Given the description of an element on the screen output the (x, y) to click on. 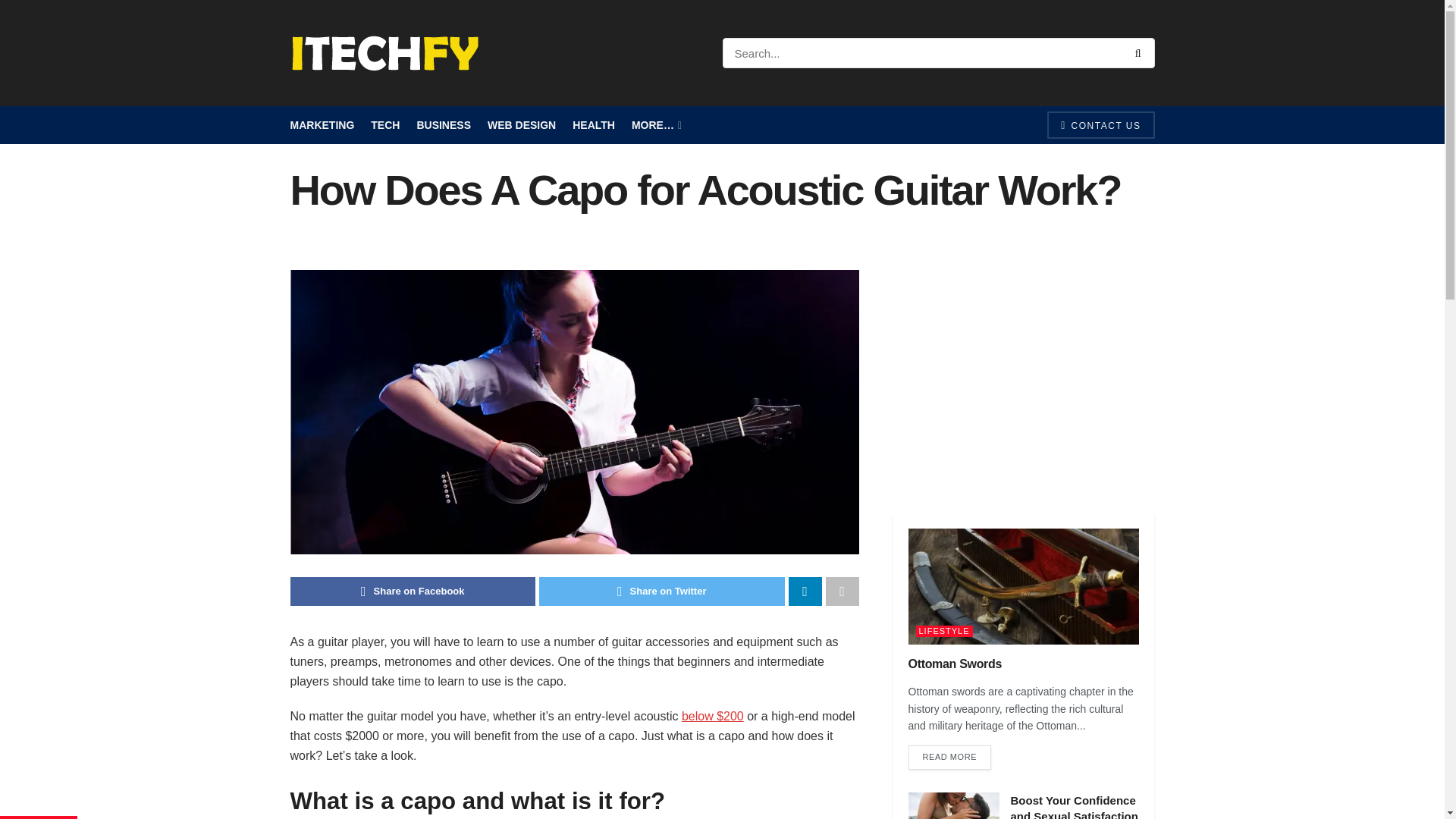
HEALTH (593, 125)
CONTACT US (1100, 124)
MARKETING (321, 125)
WEB DESIGN (521, 125)
Advertisement (1023, 377)
BUSINESS (443, 125)
